Given the description of an element on the screen output the (x, y) to click on. 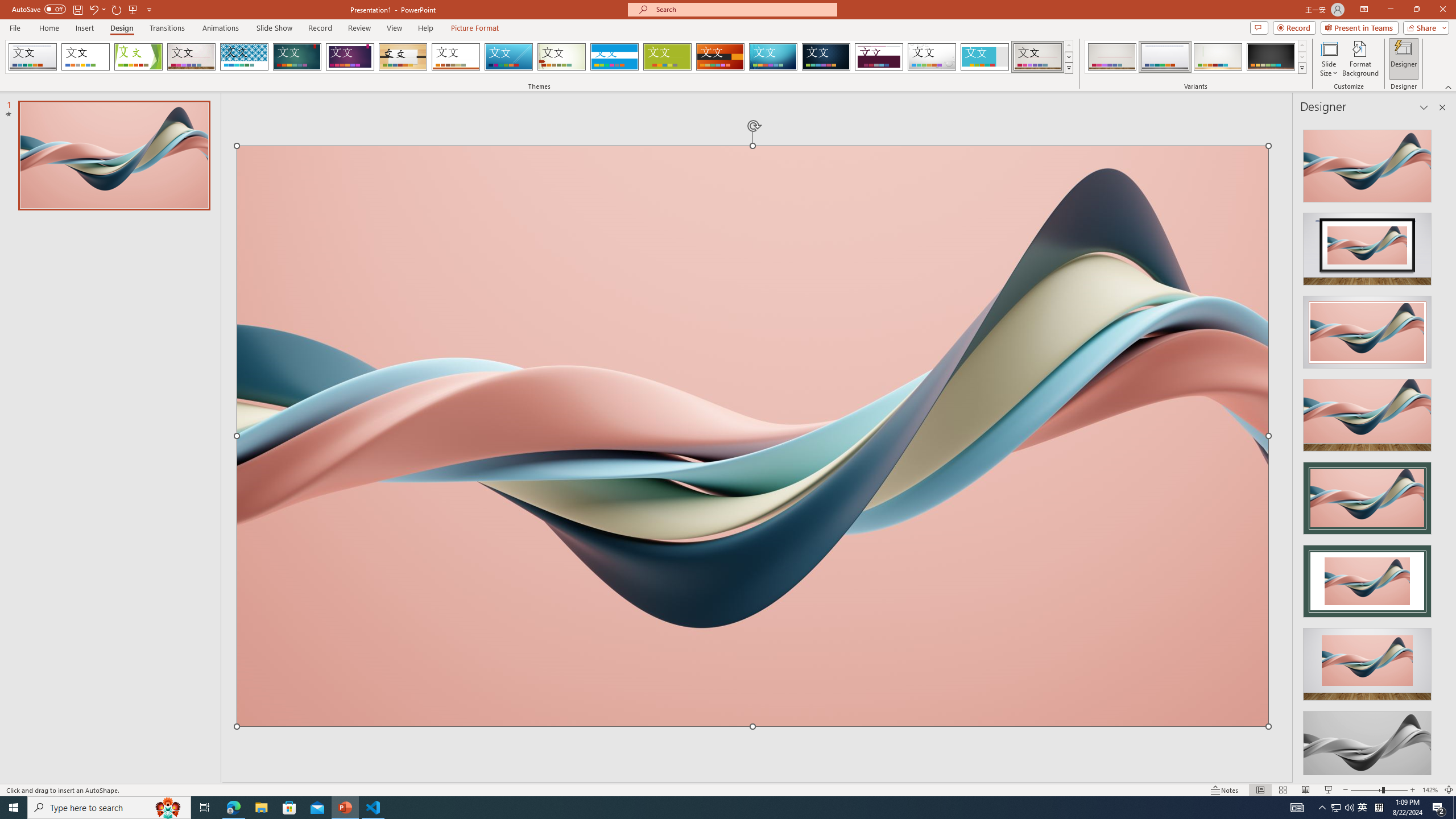
Ion (296, 56)
Organic (403, 56)
Gallery Variant 1 (1112, 56)
Gallery Variant 4 (1270, 56)
Wisp (561, 56)
Damask (826, 56)
